Given the description of an element on the screen output the (x, y) to click on. 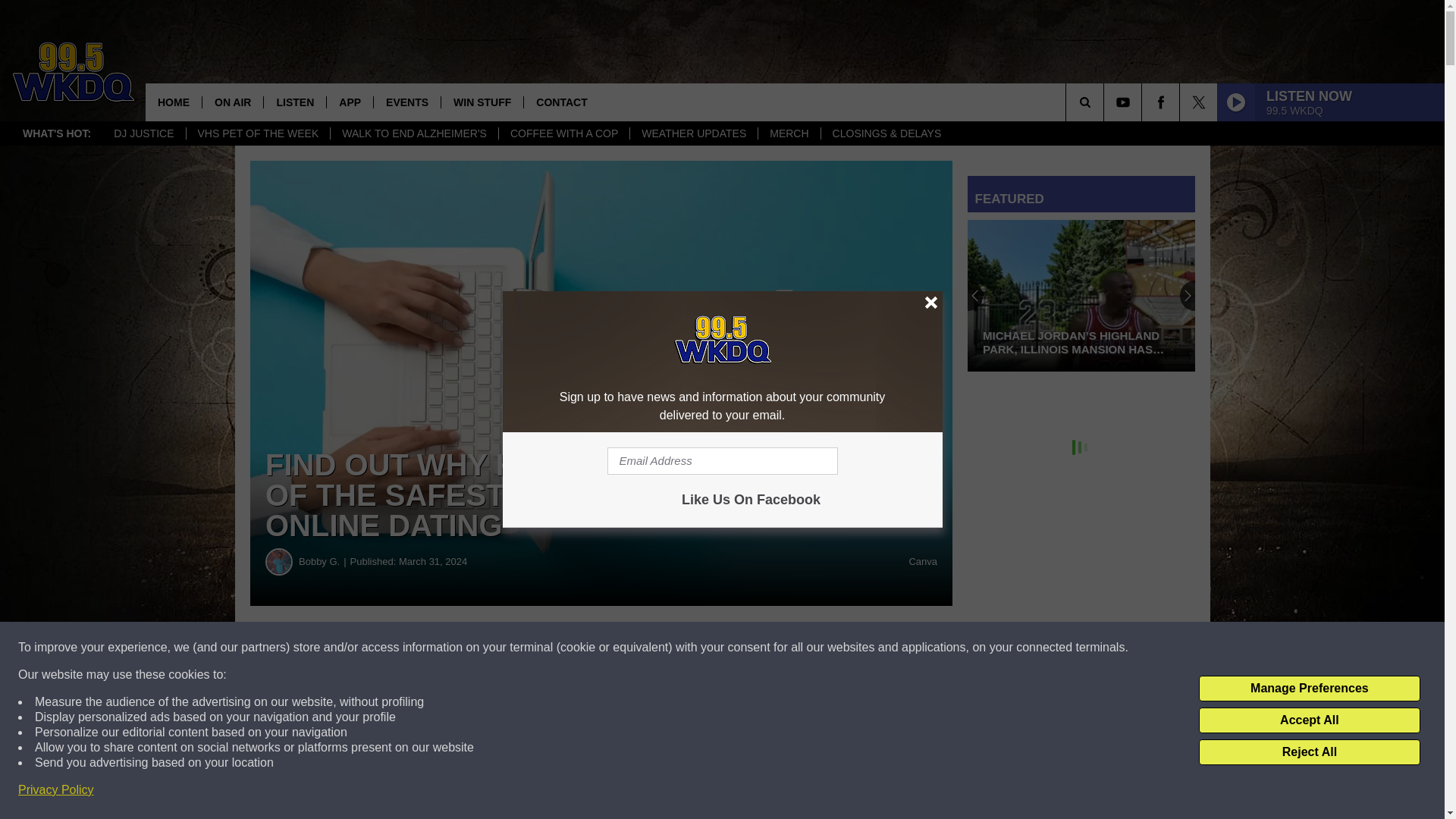
COFFEE WITH A COP (562, 133)
SEARCH (1106, 102)
WHAT'S HOT: (56, 133)
DJ JUSTICE (142, 133)
ON AIR (232, 102)
APP (349, 102)
VHS PET OF THE WEEK (258, 133)
Share on Facebook (460, 647)
Reject All (1309, 751)
Manage Preferences (1309, 688)
Share on Twitter (741, 647)
LISTEN (294, 102)
Privacy Policy (55, 789)
Accept All (1309, 720)
SEARCH (1106, 102)
